Given the description of an element on the screen output the (x, y) to click on. 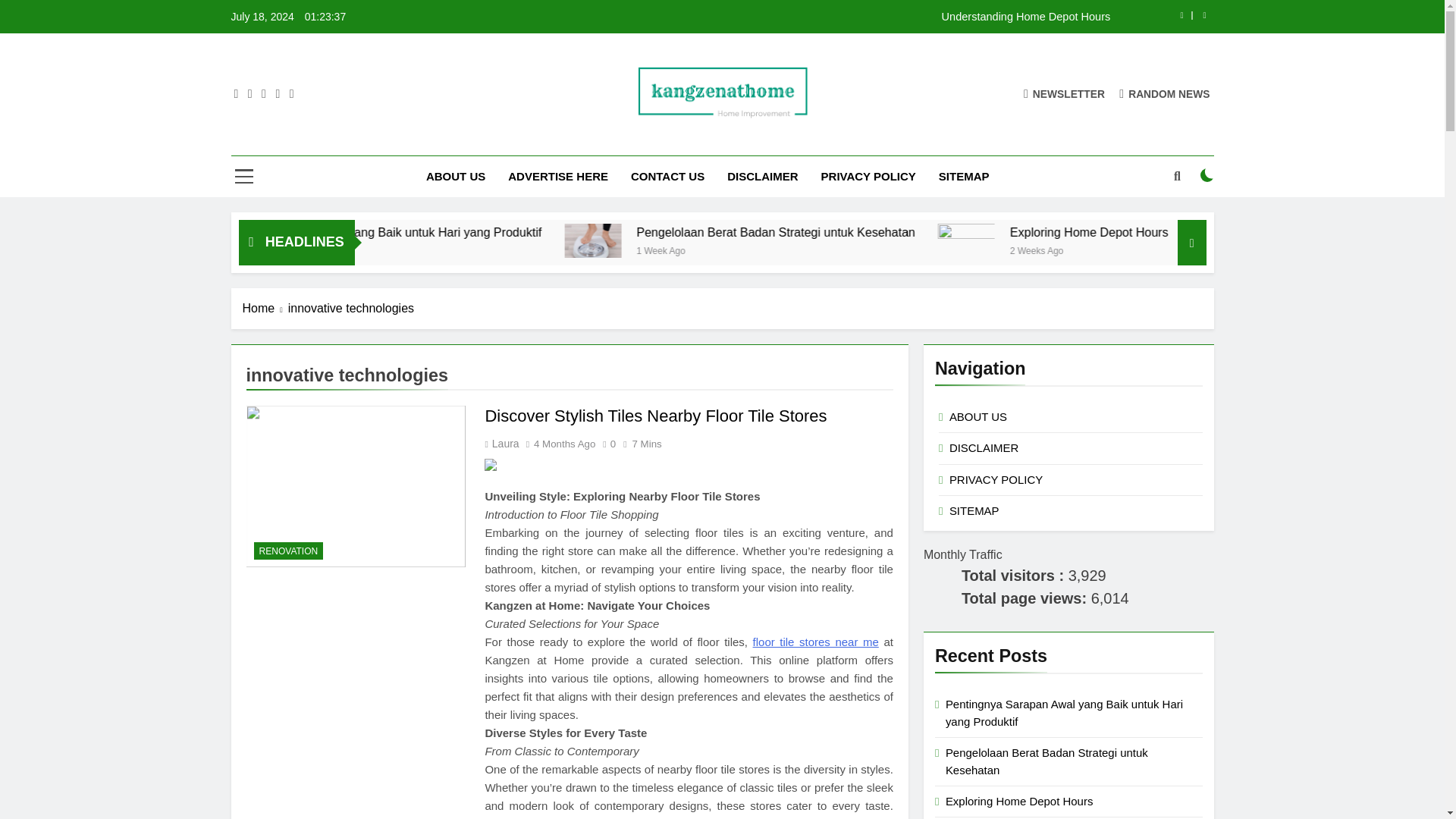
1 Week Ago (390, 249)
Pengelolaan Berat Badan Strategi untuk Kesehatan (723, 240)
ABOUT US (455, 176)
2 Weeks Ago (1181, 249)
Pentingnya Sarapan Awal yang Baik untuk Hari yang Produktif (534, 232)
Understanding Home Depot Hours (817, 16)
Pengelolaan Berat Badan Strategi untuk Kesehatan (719, 240)
1 Week Ago (813, 249)
Understanding Home Depot Hours (817, 16)
Exploring Home Depot Hours (1236, 232)
Pengelolaan Berat Badan Strategi untuk Kesehatan (931, 232)
NEWSLETTER (1064, 92)
CONTACT US (668, 176)
Pengelolaan Berat Badan Strategi untuk Kesehatan (901, 232)
ADVERTISE HERE (558, 176)
